Given the description of an element on the screen output the (x, y) to click on. 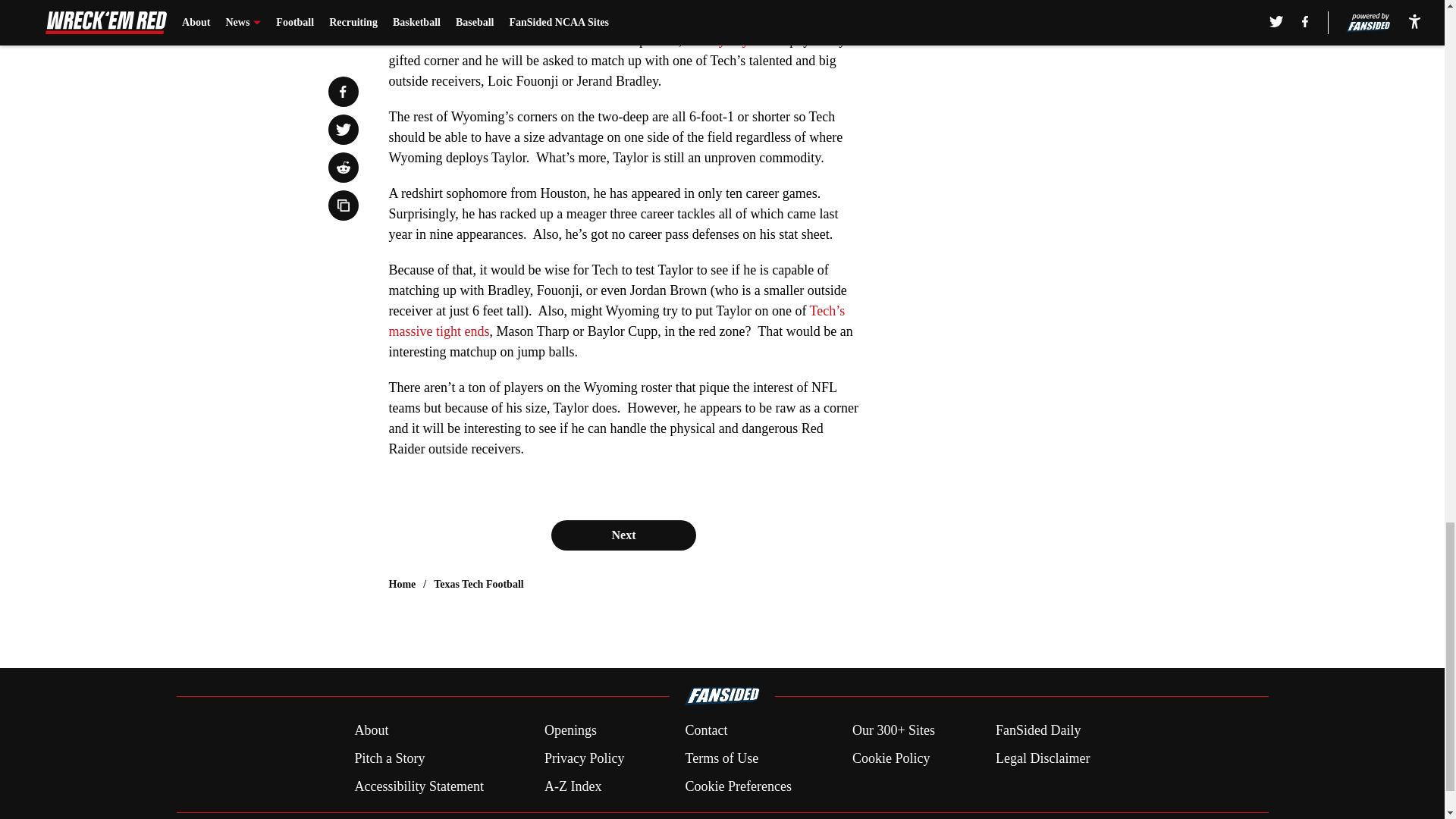
About (370, 730)
Next (622, 535)
FanSided Daily (1038, 730)
Openings (570, 730)
Kolbey Taylor (724, 39)
Terms of Use (721, 758)
Contact (705, 730)
Privacy Policy (584, 758)
Pitch a Story (389, 758)
Home (401, 584)
